Given the description of an element on the screen output the (x, y) to click on. 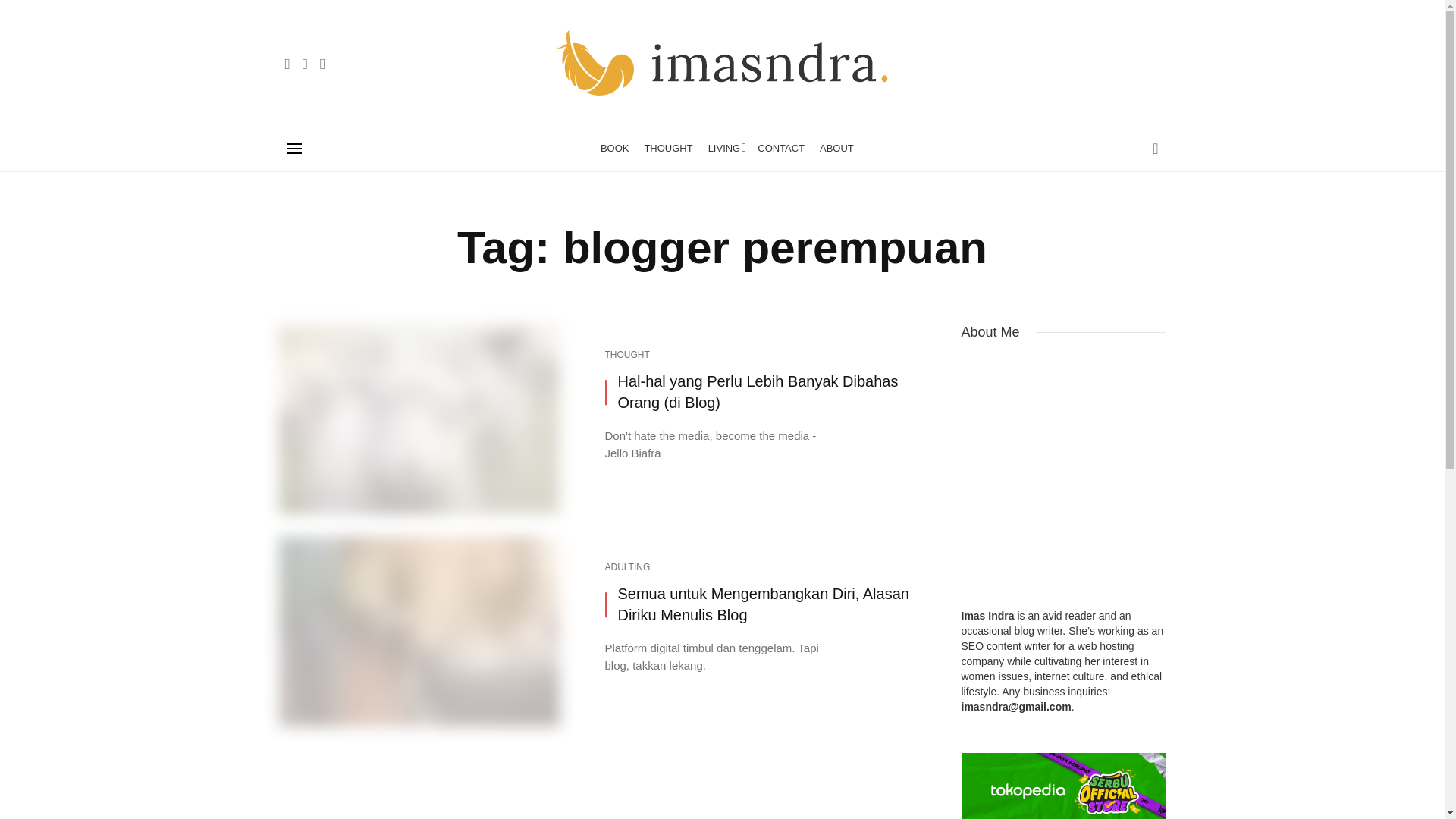
LIVING (725, 148)
ADULTING (627, 567)
THOUGHT (668, 148)
CONTACT (780, 148)
BOOK (614, 148)
THOUGHT (627, 354)
ABOUT (836, 148)
Semua untuk Mengembangkan Diri, Alasan Diriku Menulis Blog (770, 604)
